Given the description of an element on the screen output the (x, y) to click on. 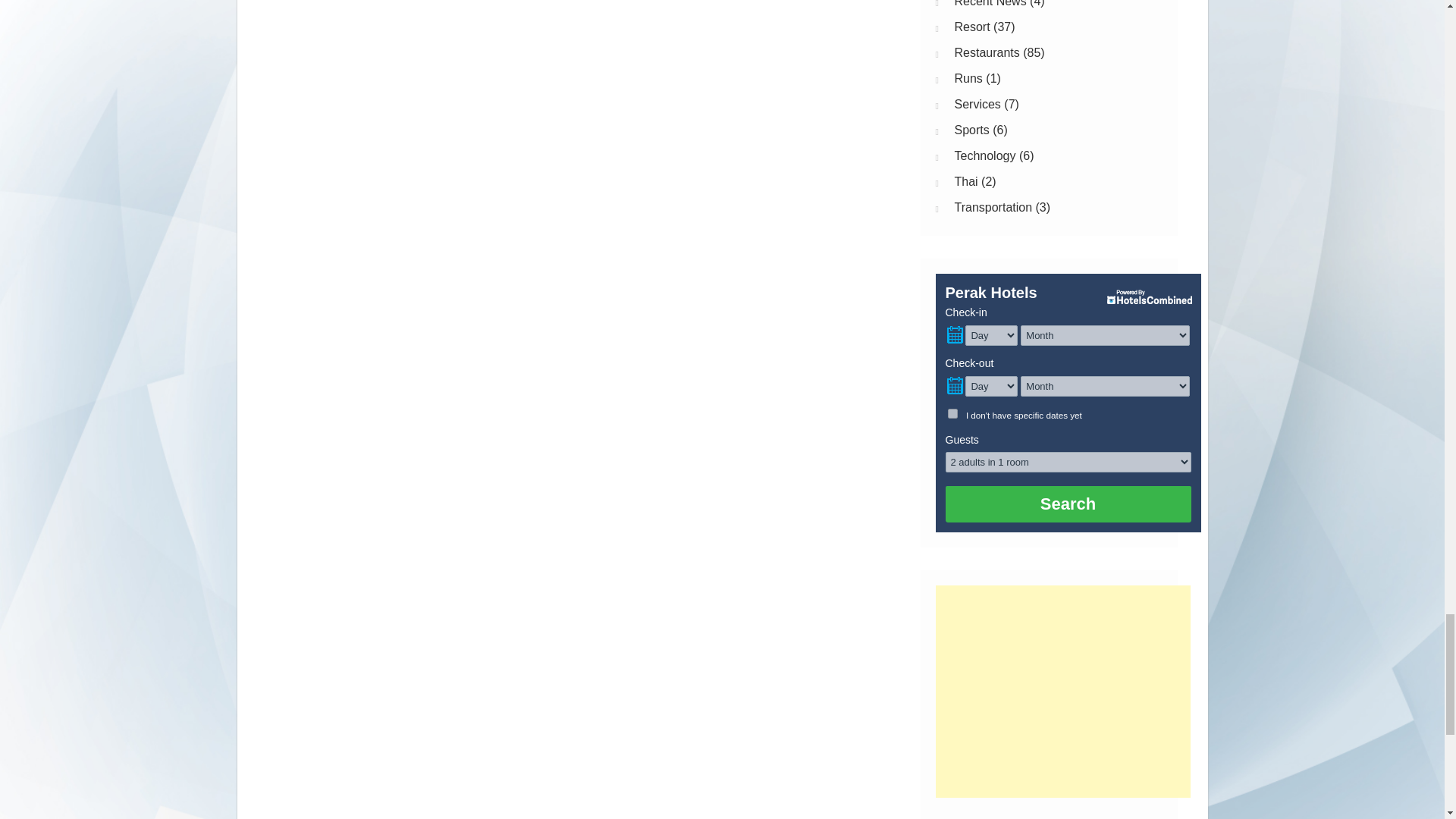
on (952, 413)
... (953, 385)
... (953, 334)
